Given the description of an element on the screen output the (x, y) to click on. 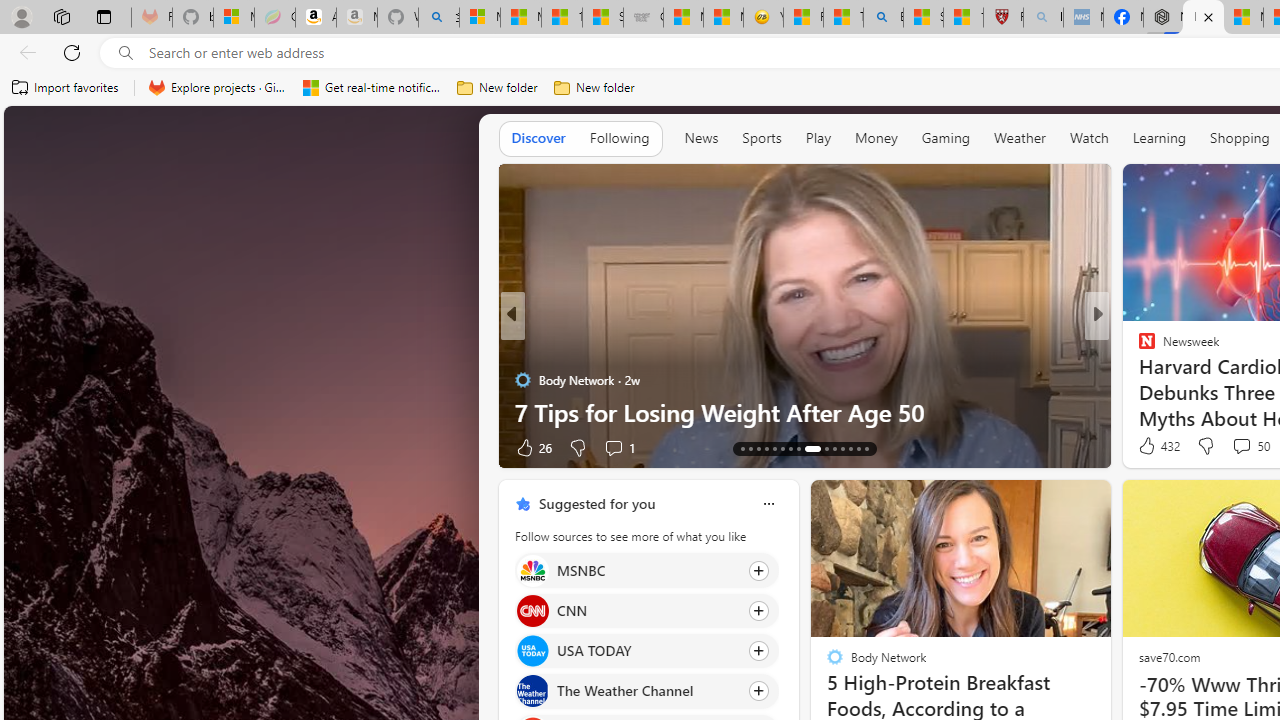
Science - MSN (923, 17)
View comments 64 Comment (11, 447)
Discover (538, 138)
save70.com (1168, 656)
Sports (761, 137)
Click to follow source CNN (646, 610)
View comments 50 Comment (1249, 446)
NCL Adult Asthma Inhaler Choice Guideline - Sleeping (1083, 17)
AutomationID: tab-76 (833, 448)
View comments 50 Comment (1241, 445)
News (701, 138)
